Given the description of an element on the screen output the (x, y) to click on. 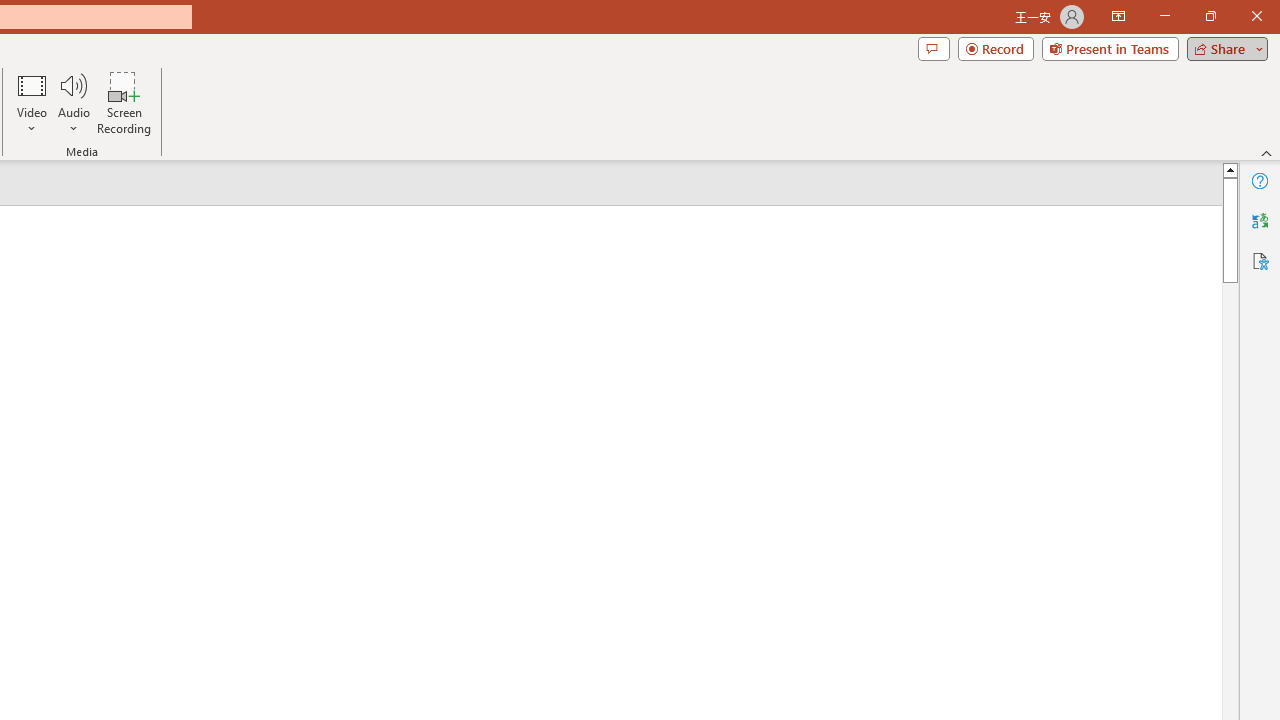
Screen Recording... (123, 102)
